Given the description of an element on the screen output the (x, y) to click on. 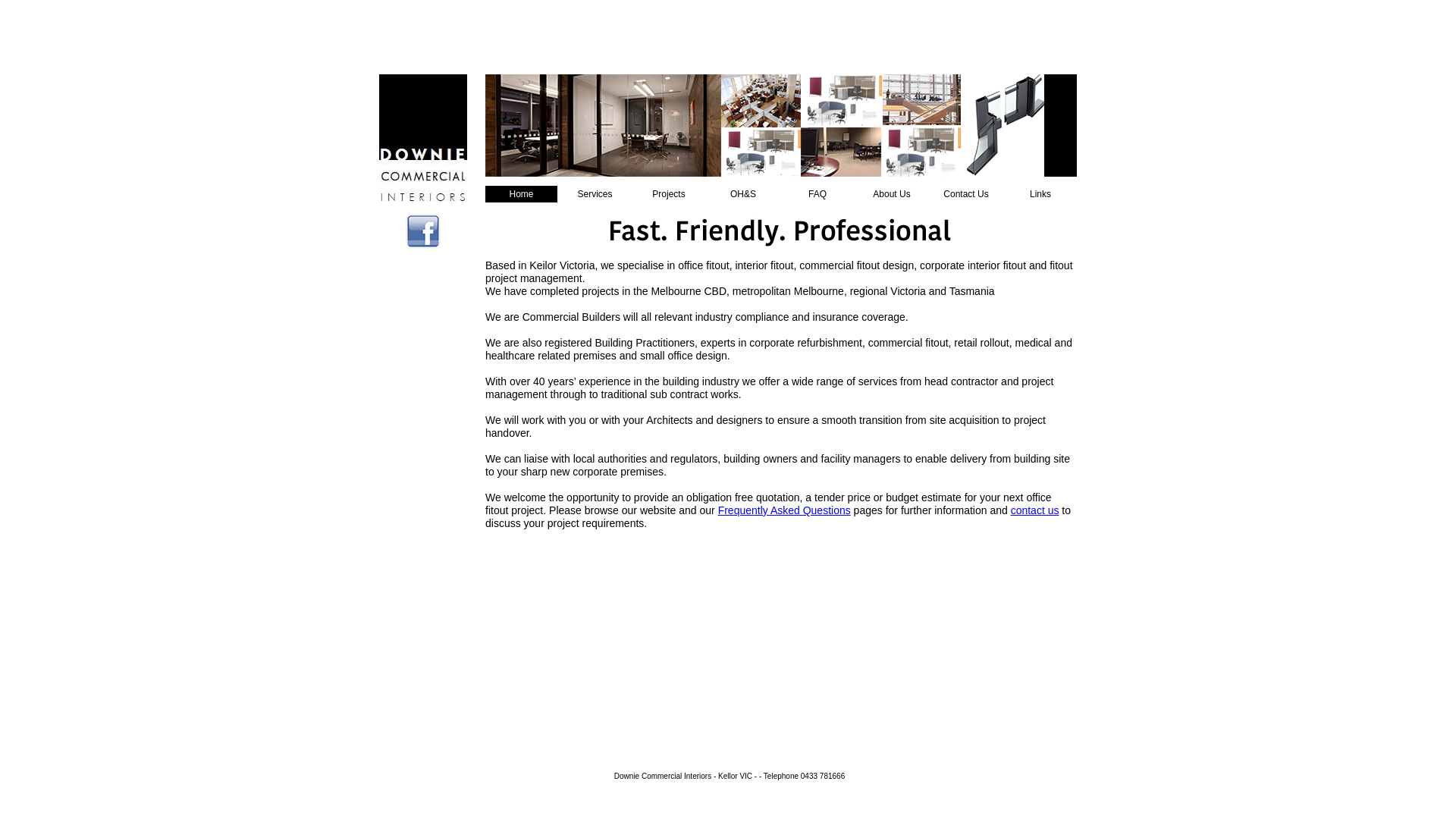
Services Element type: text (594, 193)
Links Element type: text (1040, 193)
OH&S Element type: text (742, 193)
Contact Us Element type: text (965, 193)
FAQ Element type: text (817, 193)
Home Element type: text (521, 193)
About Us Element type: text (891, 193)
contact us Element type: text (1034, 510)
Projects Element type: text (668, 193)
Our Facebook Page Element type: hover (422, 230)
Frequently Asked Questions Element type: text (784, 510)
